Given the description of an element on the screen output the (x, y) to click on. 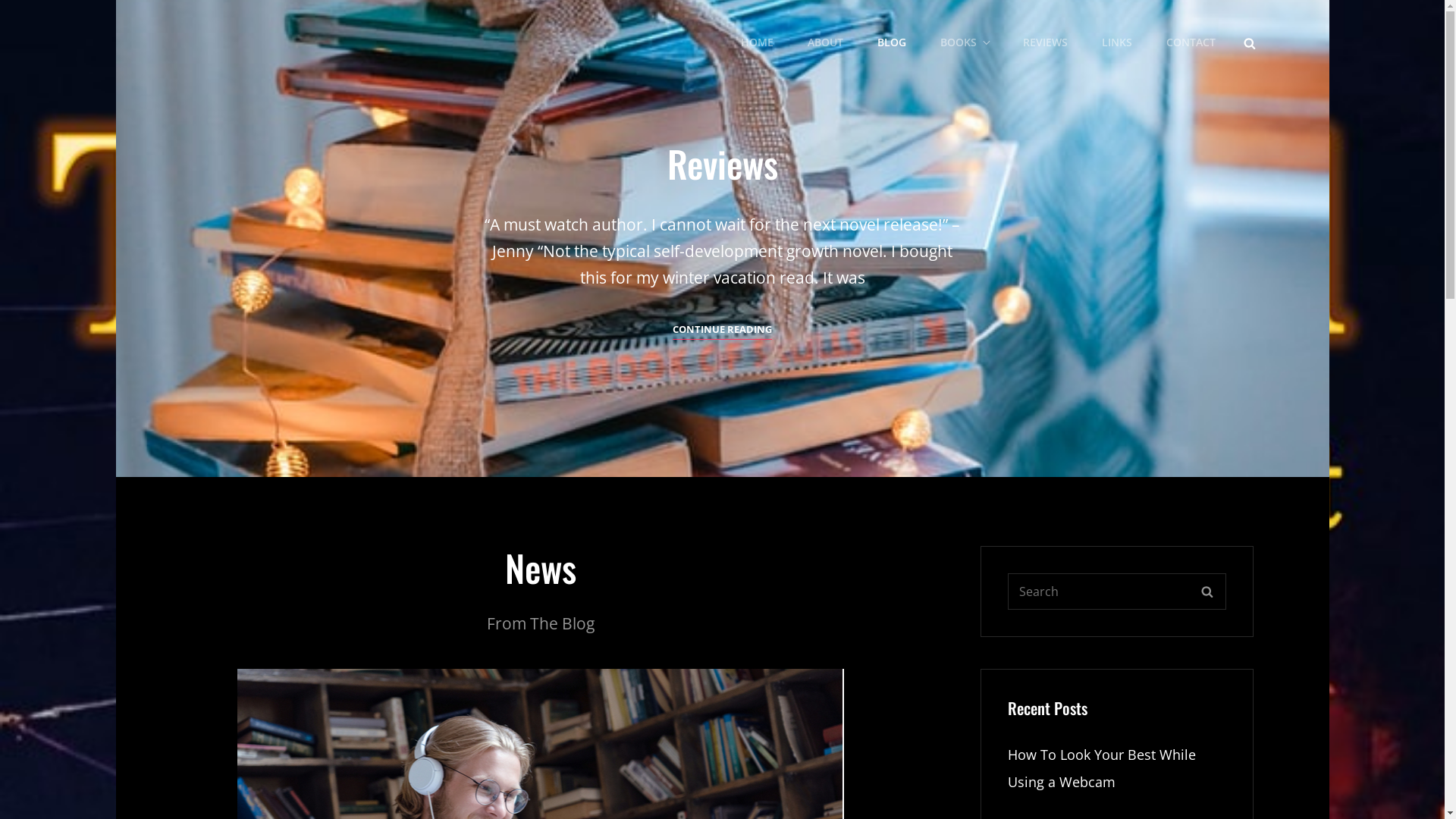
ARTHUR DOUGLAS Element type: text (273, 52)
CONTACT Element type: text (1190, 42)
HOME Element type: text (755, 42)
ABOUT Element type: text (824, 42)
BOOKS Element type: text (964, 42)
SEARCH Element type: text (1249, 42)
CONTINUE READING
REVIEWS Element type: text (721, 328)
LINKS Element type: text (1115, 42)
Reviews Element type: hover (721, 238)
How To Look Your Best While Using a Webcam Element type: text (1101, 767)
BLOG Element type: text (890, 42)
REVIEWS Element type: text (1044, 42)
SEARCH Element type: text (1207, 591)
